Given the description of an element on the screen output the (x, y) to click on. 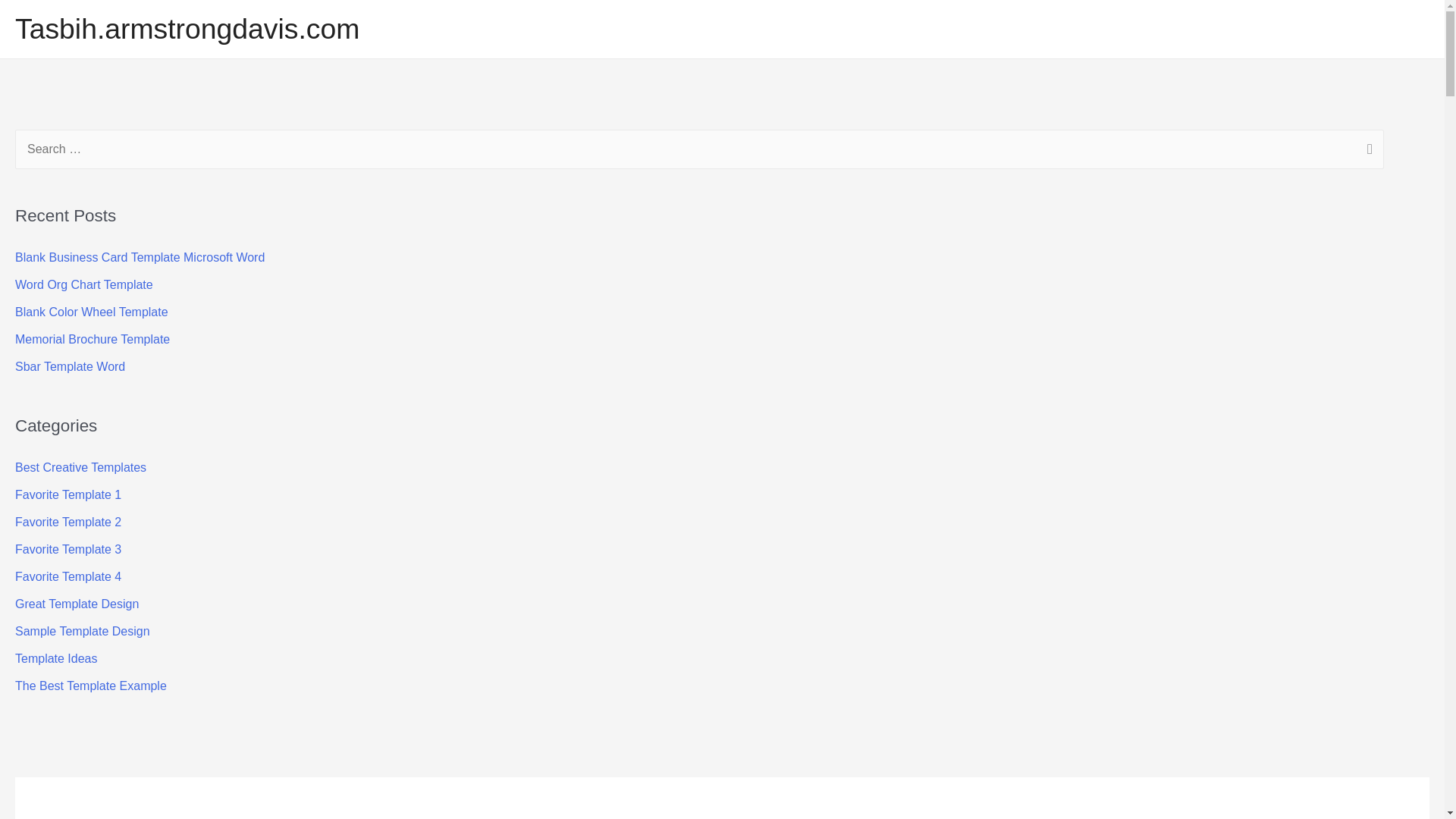
Favorite Template 4 (67, 576)
Sample Template Design (81, 631)
Template Ideas (55, 658)
Tasbih.armstrongdavis.com (186, 29)
The Best Template Example (90, 685)
Word Org Chart Template (81, 631)
Favorite Template 1 (83, 284)
Favorite Template 1 (76, 603)
Blank Color Wheel Template (67, 494)
Best Creative Templates (67, 494)
Great Template Design (80, 467)
Favorite Template 3 (91, 311)
